Given the description of an element on the screen output the (x, y) to click on. 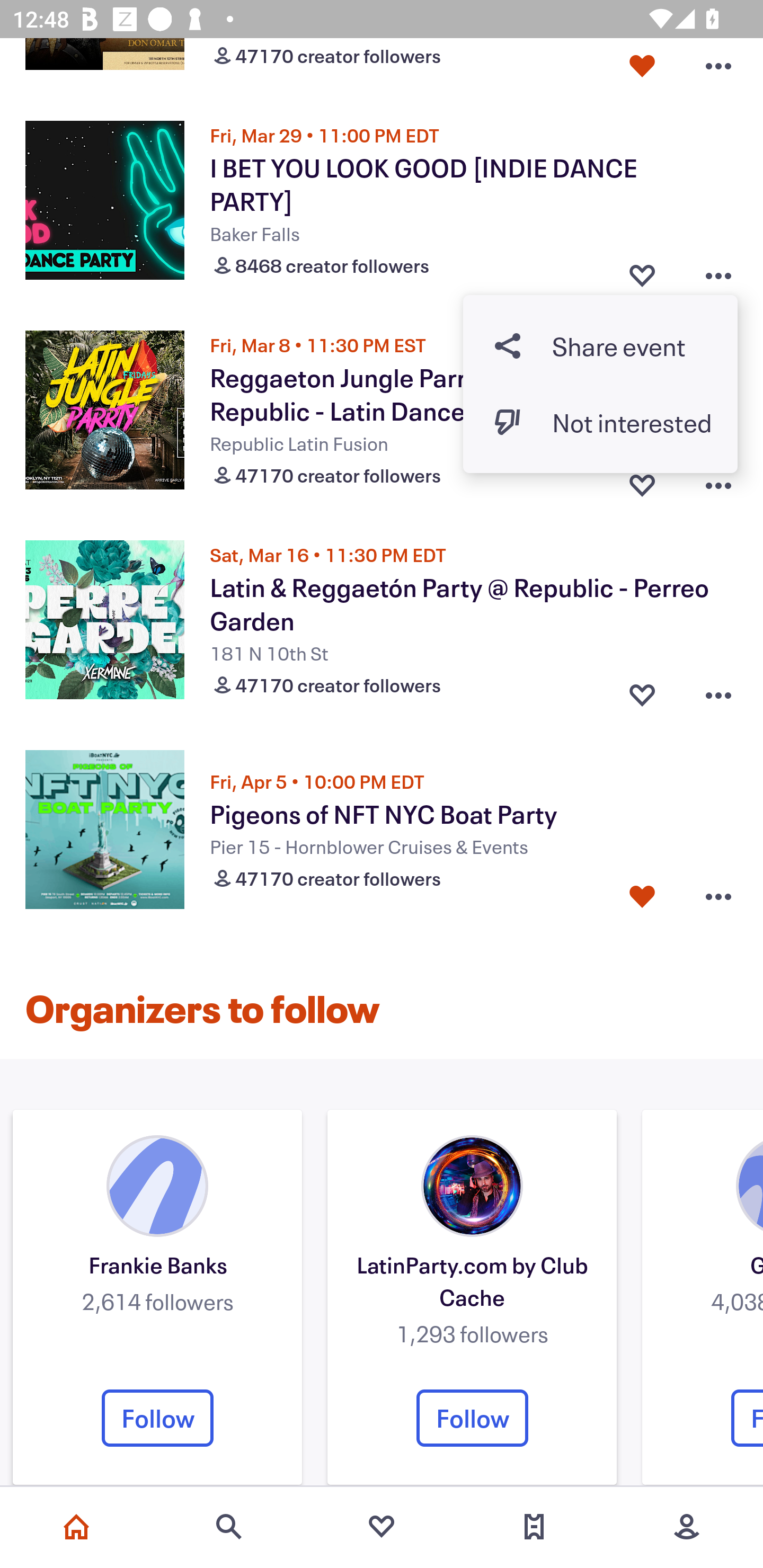
Share button Share event (600, 345)
Dislike event button Not interested (600, 422)
